Given the description of an element on the screen output the (x, y) to click on. 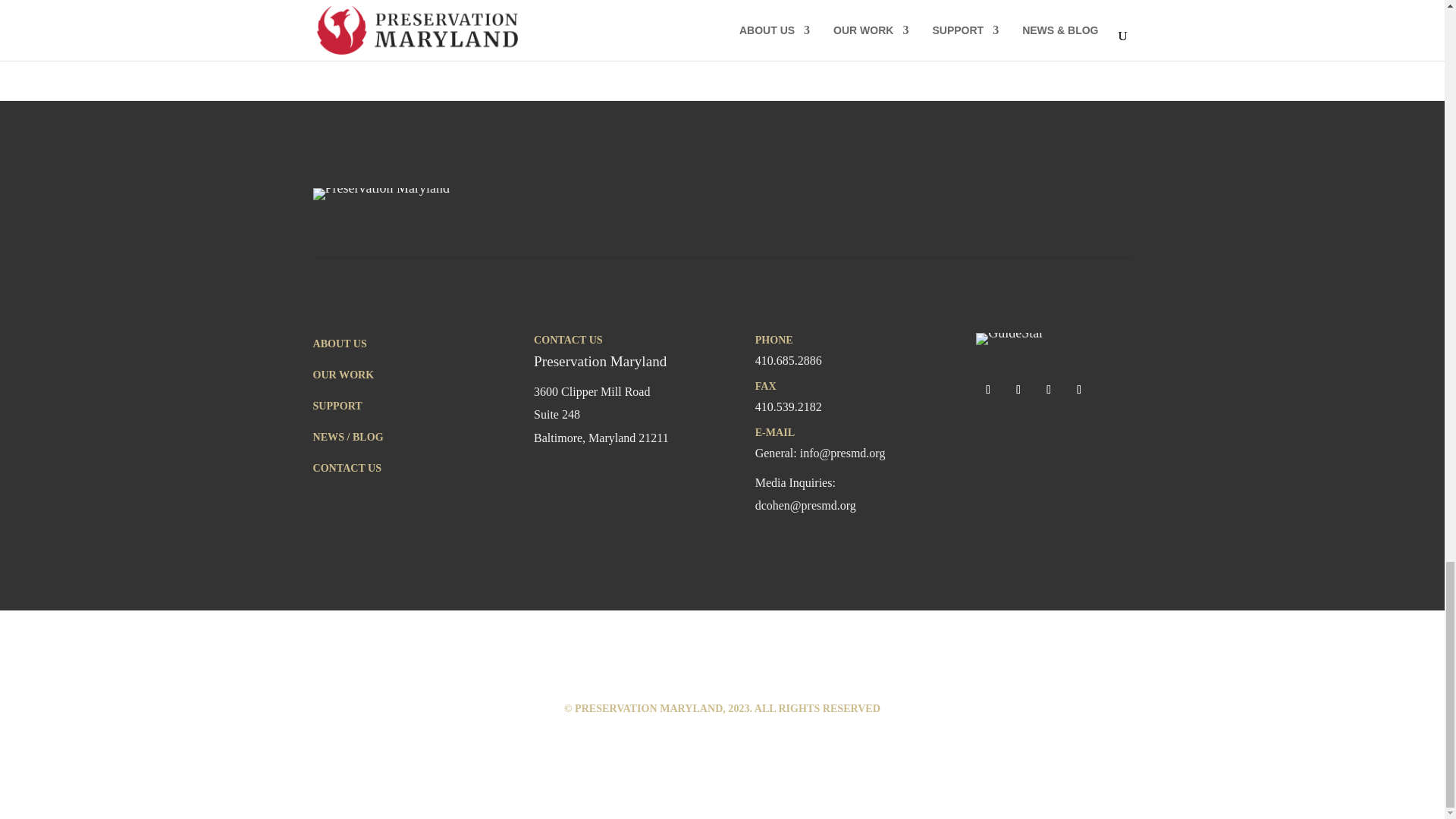
Follow on Instagram (1048, 389)
Follow on Facebook (987, 389)
Follow on Twitter (1018, 389)
Follow on LinkedIn (1078, 389)
